Given the description of an element on the screen output the (x, y) to click on. 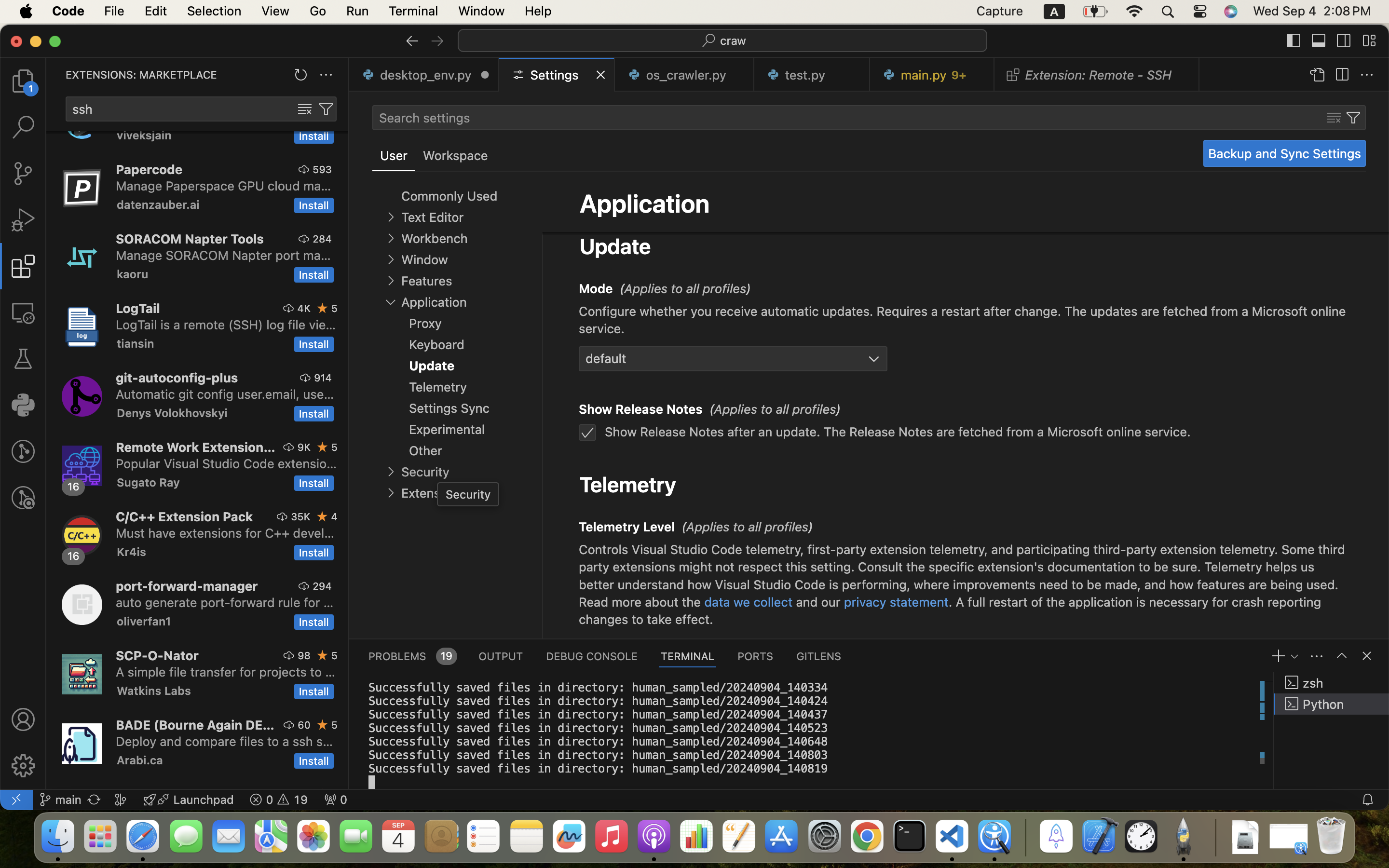
oliverfan1 Element type: AXStaticText (143, 620)
C/C++ Extension Pack Element type: AXStaticText (184, 516)
Manage Paperspace GPU cloud machines directly from VS Code. Open with just one click a remote VS Code session, streamlining your machine learning & data science process and increasing productivity. Element type: AXStaticText (223, 185)
BADE (Bourne Again DEploy) Element type: AXStaticText (194, 724)
data we collect Element type: AXStaticText (748, 601)
